Given the description of an element on the screen output the (x, y) to click on. 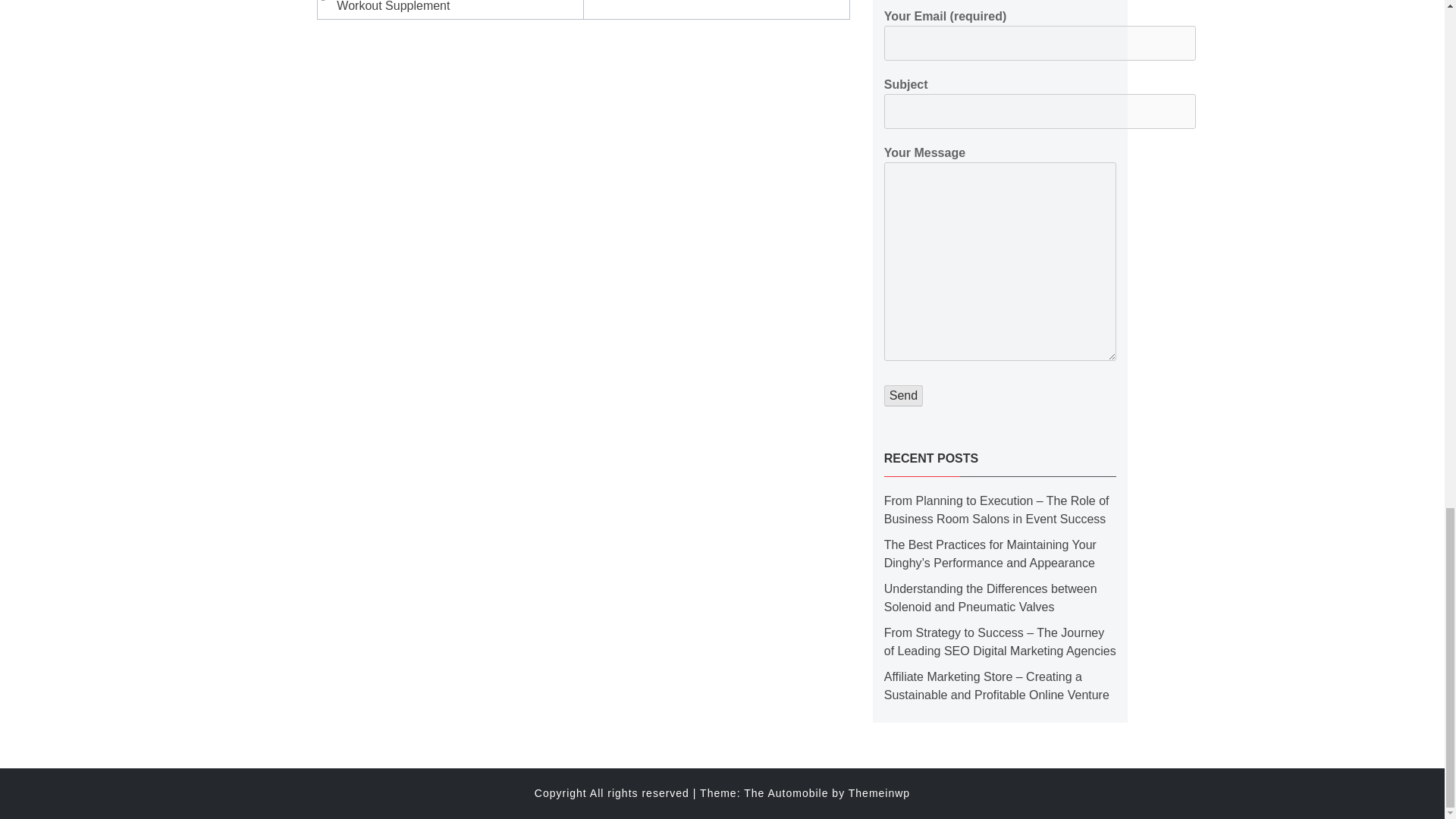
Things You Should Know About C4 Pre Workout Supplement (451, 7)
Themeinwp (879, 793)
Send (903, 395)
Send (903, 395)
